Given the description of an element on the screen output the (x, y) to click on. 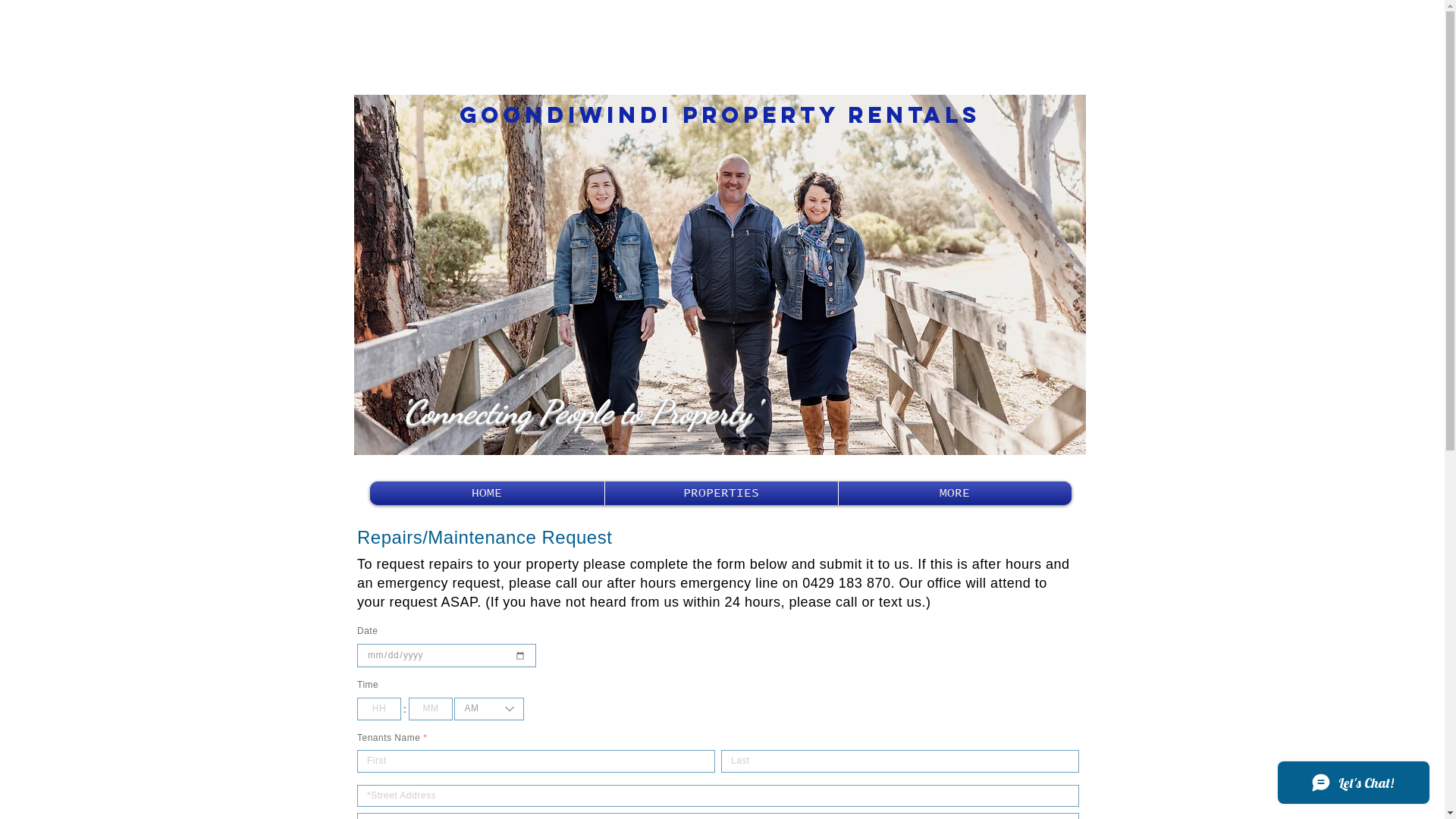
HOME Element type: text (486, 493)
Goondiwindi Property Rentals Element type: text (719, 114)
